Given the description of an element on the screen output the (x, y) to click on. 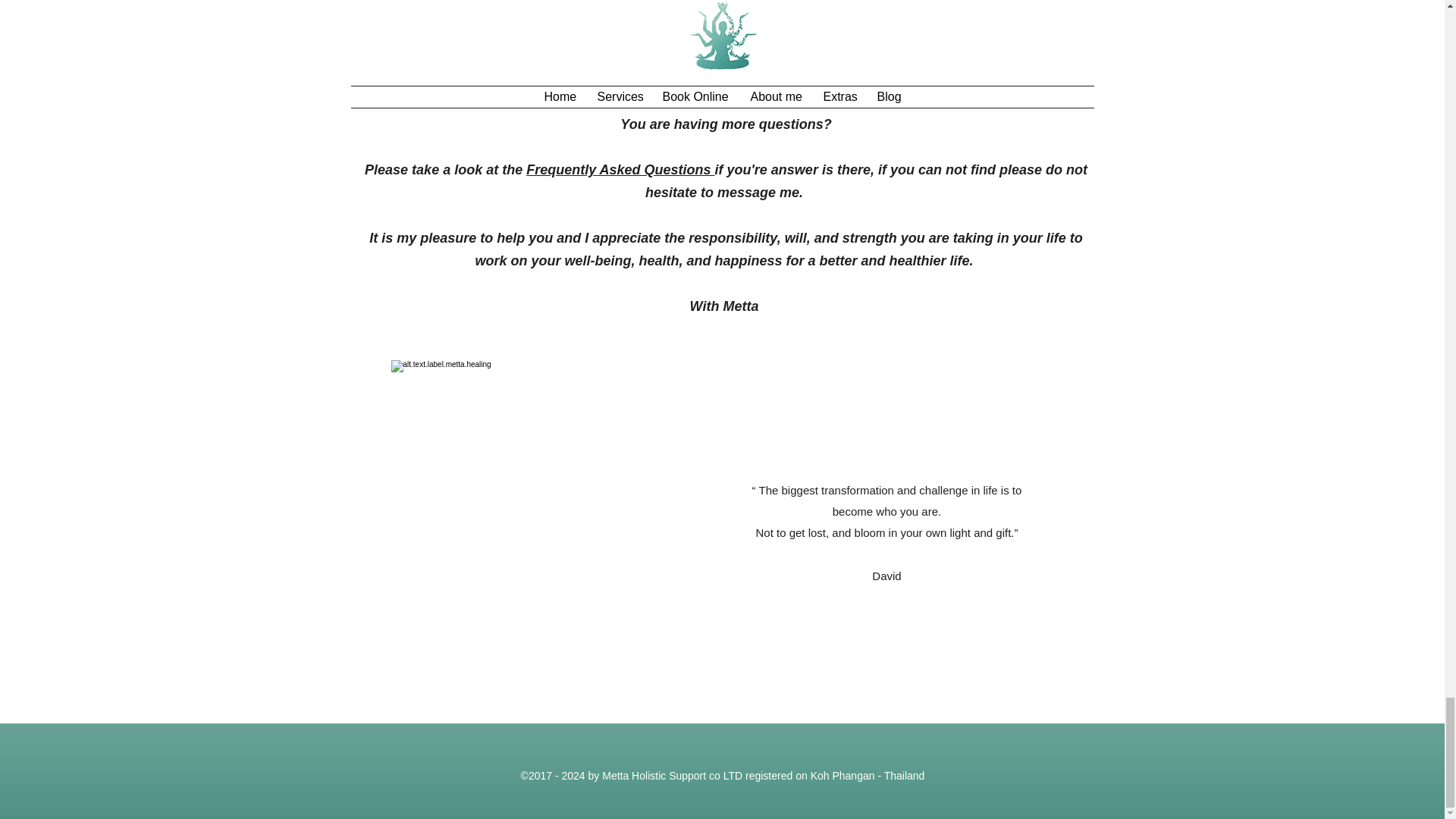
Frequently Asked Questions  (619, 169)
Metta-Healing (524, 535)
